Given the description of an element on the screen output the (x, y) to click on. 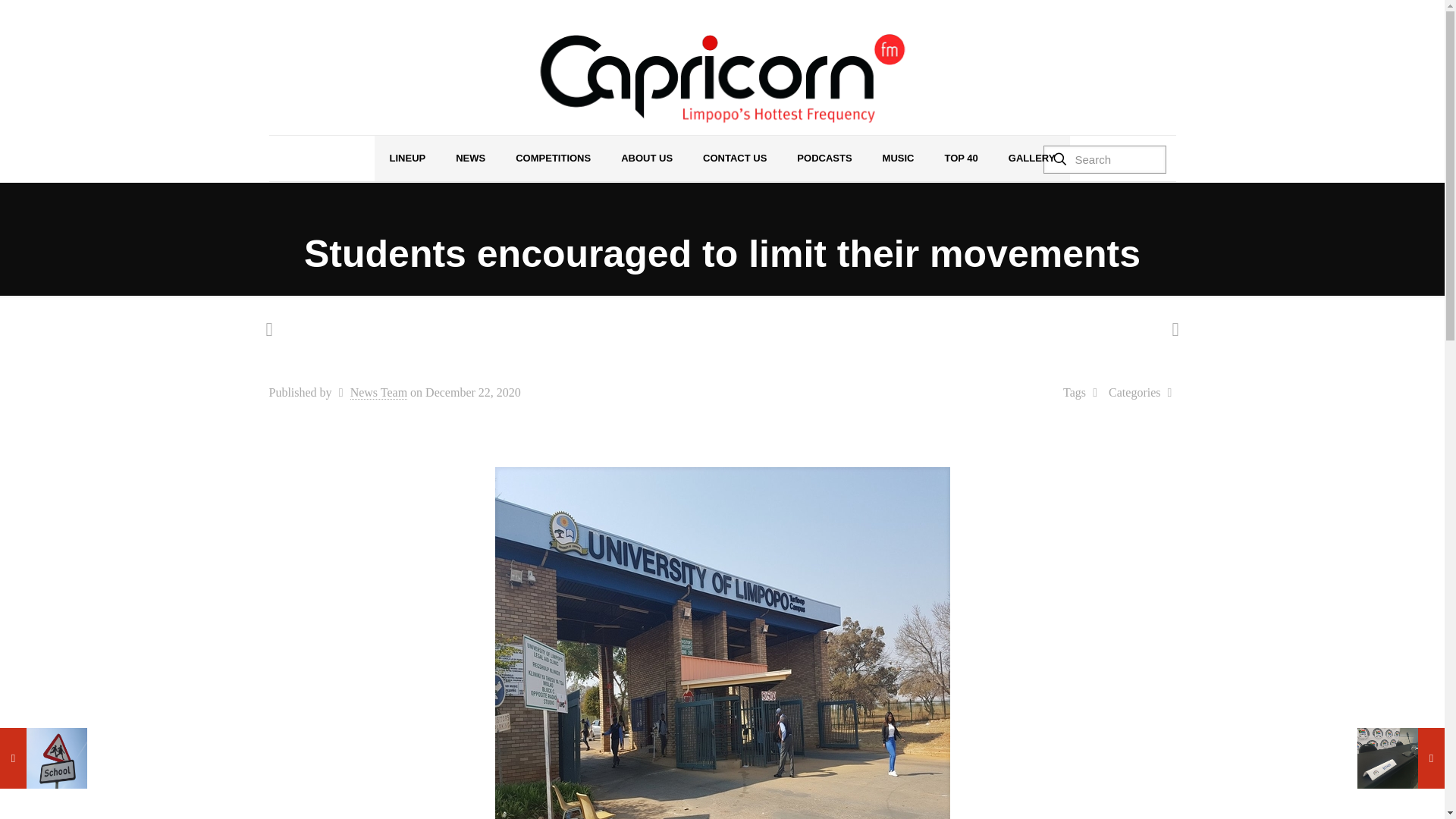
Capricorn FM (721, 78)
PODCASTS (823, 157)
ABOUT US (646, 157)
TOP 40 (960, 157)
LINEUP (407, 157)
CONTACT US (734, 157)
News Team (378, 392)
COMPETITIONS (552, 157)
MUSIC (898, 157)
NEWS (470, 157)
GALLERY (1031, 157)
